Given the description of an element on the screen output the (x, y) to click on. 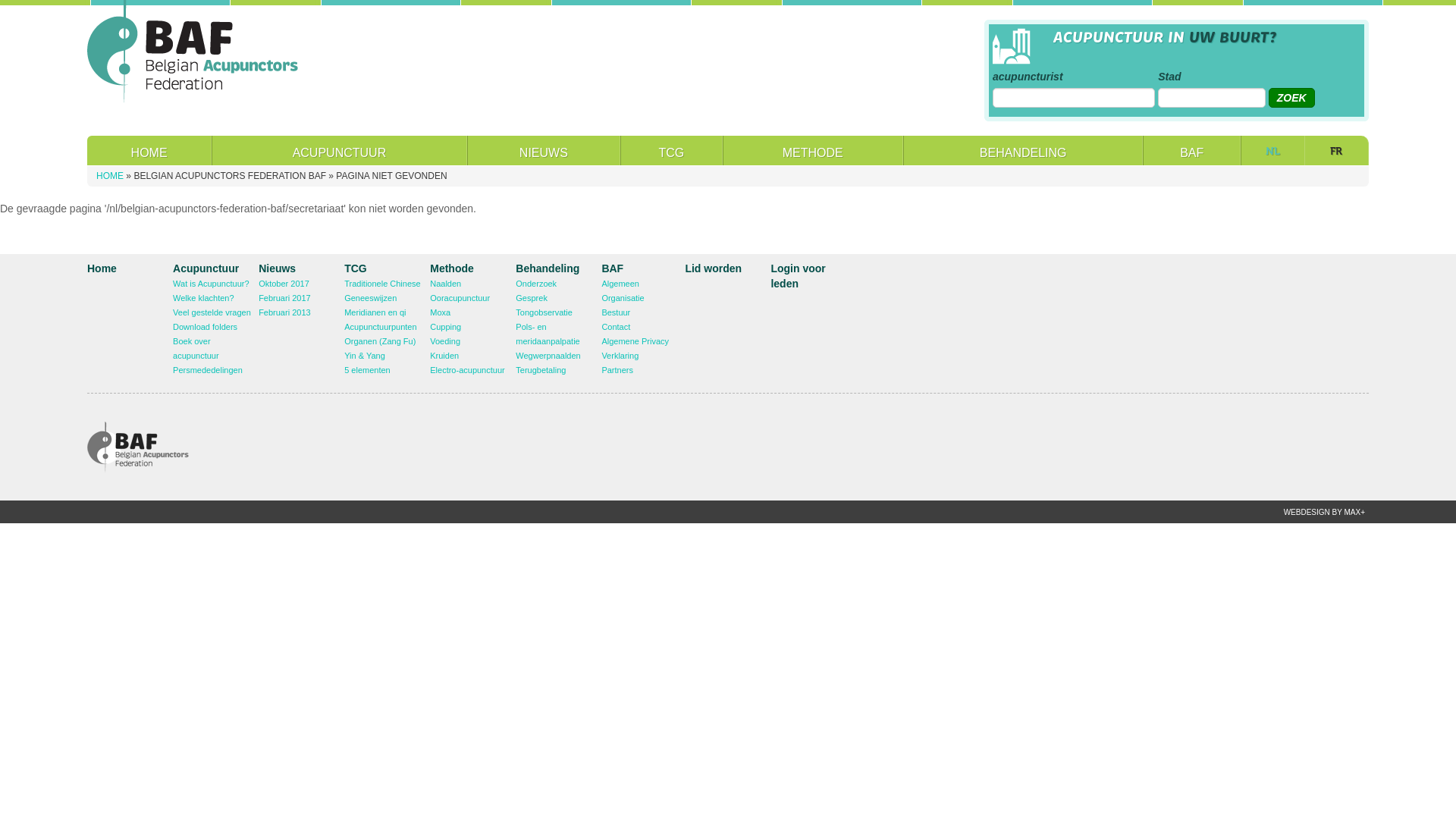
Moxa Element type: text (439, 311)
ACUPUNCTUUR Element type: text (338, 150)
Acupunctuurpunten Element type: text (380, 326)
Veel gestelde vragen Element type: text (211, 311)
Gesprek Element type: text (531, 297)
Home Element type: text (101, 268)
Pols- en meridaanpalpatie Element type: text (547, 333)
HOME Element type: text (109, 175)
Electro-acupunctuur Element type: text (466, 369)
TCG Element type: text (355, 268)
Yin & Yang Element type: text (364, 355)
Contact Element type: text (615, 326)
Kruiden Element type: text (443, 355)
Login voor leden Element type: text (797, 275)
Nieuws Element type: text (276, 268)
Wegwerpnaalden Element type: text (547, 355)
Cupping Element type: text (445, 326)
Traditionele Chinese Geneeswijzen Element type: text (382, 290)
Home Element type: hover (192, 50)
Algemeen Element type: text (620, 283)
BAF Element type: text (1190, 150)
FR Element type: text (1336, 150)
Acupunctuur Element type: text (205, 268)
Download folders Element type: text (204, 326)
NL Element type: text (1272, 150)
HOME Element type: text (149, 150)
Meridianen en qi Element type: text (374, 311)
5 elementen Element type: text (367, 369)
METHODE Element type: text (812, 150)
TCG Element type: text (670, 150)
Oktober 2017 Element type: text (283, 283)
Tongobservatie Element type: text (543, 311)
Boek over acupunctuur Element type: text (195, 348)
Ooracupunctuur Element type: text (459, 297)
Partners Element type: text (617, 369)
Organen (Zang Fu) Element type: text (379, 340)
Februari 2017 Element type: text (284, 297)
Organisatie Element type: text (622, 297)
WEBDESIGN BY MAX+ Element type: text (1324, 512)
Behandeling Element type: text (547, 268)
Lid worden Element type: text (712, 268)
BEHANDELING Element type: text (1023, 150)
Wat is Acupunctuur? Element type: text (210, 283)
BAF Element type: text (612, 268)
Naalden Element type: text (445, 283)
Methode Element type: text (451, 268)
Welke klachten? Element type: text (203, 297)
Bestuur Element type: text (615, 311)
zoek Element type: text (1291, 97)
Onderzoek Element type: text (535, 283)
Persmededelingen Element type: text (207, 369)
Februari 2013 Element type: text (284, 311)
Voeding Element type: text (444, 340)
Terugbetaling Element type: text (540, 369)
Algemene Privacy Verklaring Element type: text (634, 348)
NIEUWS Element type: text (543, 150)
